Given the description of an element on the screen output the (x, y) to click on. 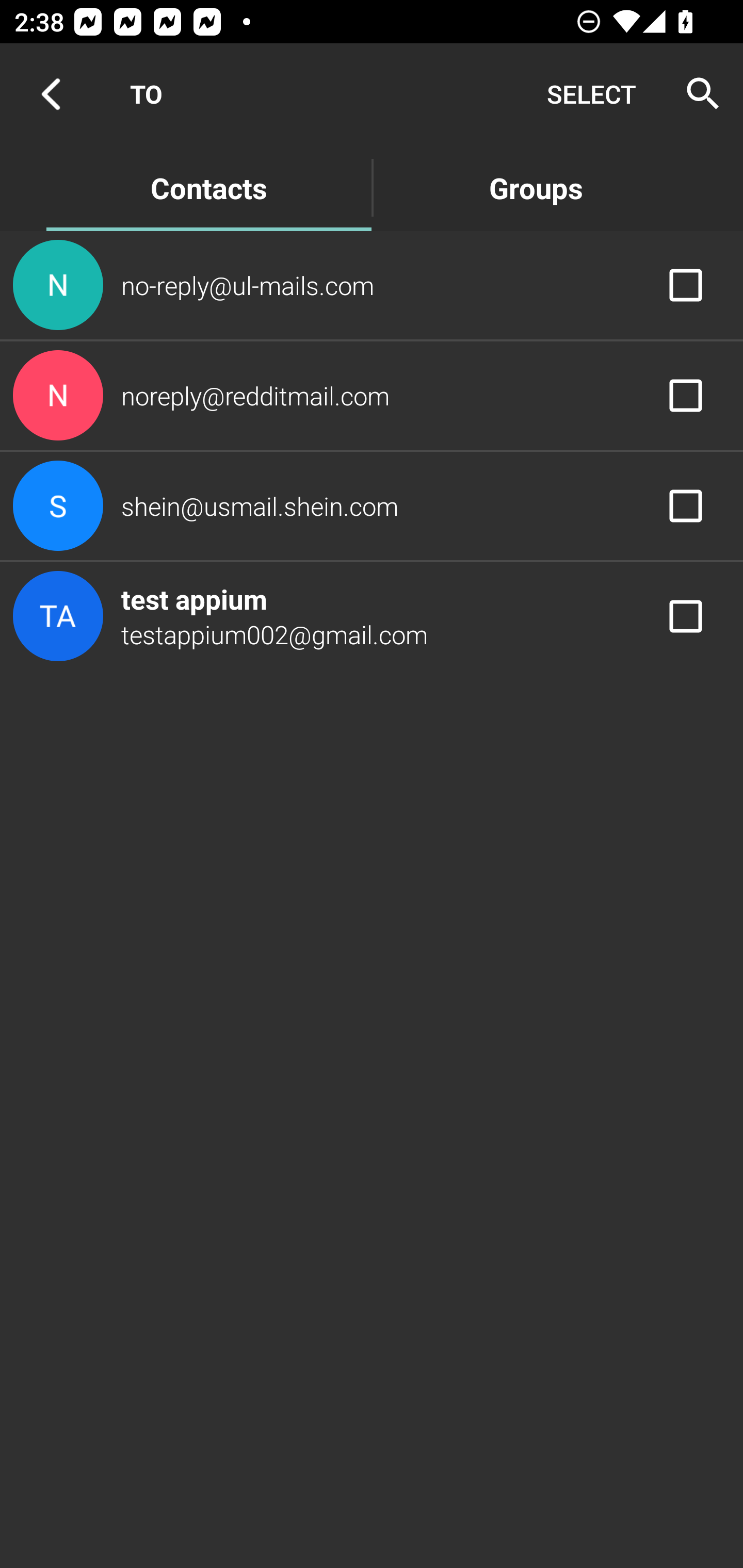
Navigate up (50, 93)
SELECT (590, 93)
Search (696, 93)
Contacts (208, 187)
Groups (535, 187)
no-reply@ul-mails.com (371, 284)
noreply@redditmail.com (371, 395)
shein@usmail.shein.com (371, 505)
test appium testappium002@gmail.com (371, 616)
